Given the description of an element on the screen output the (x, y) to click on. 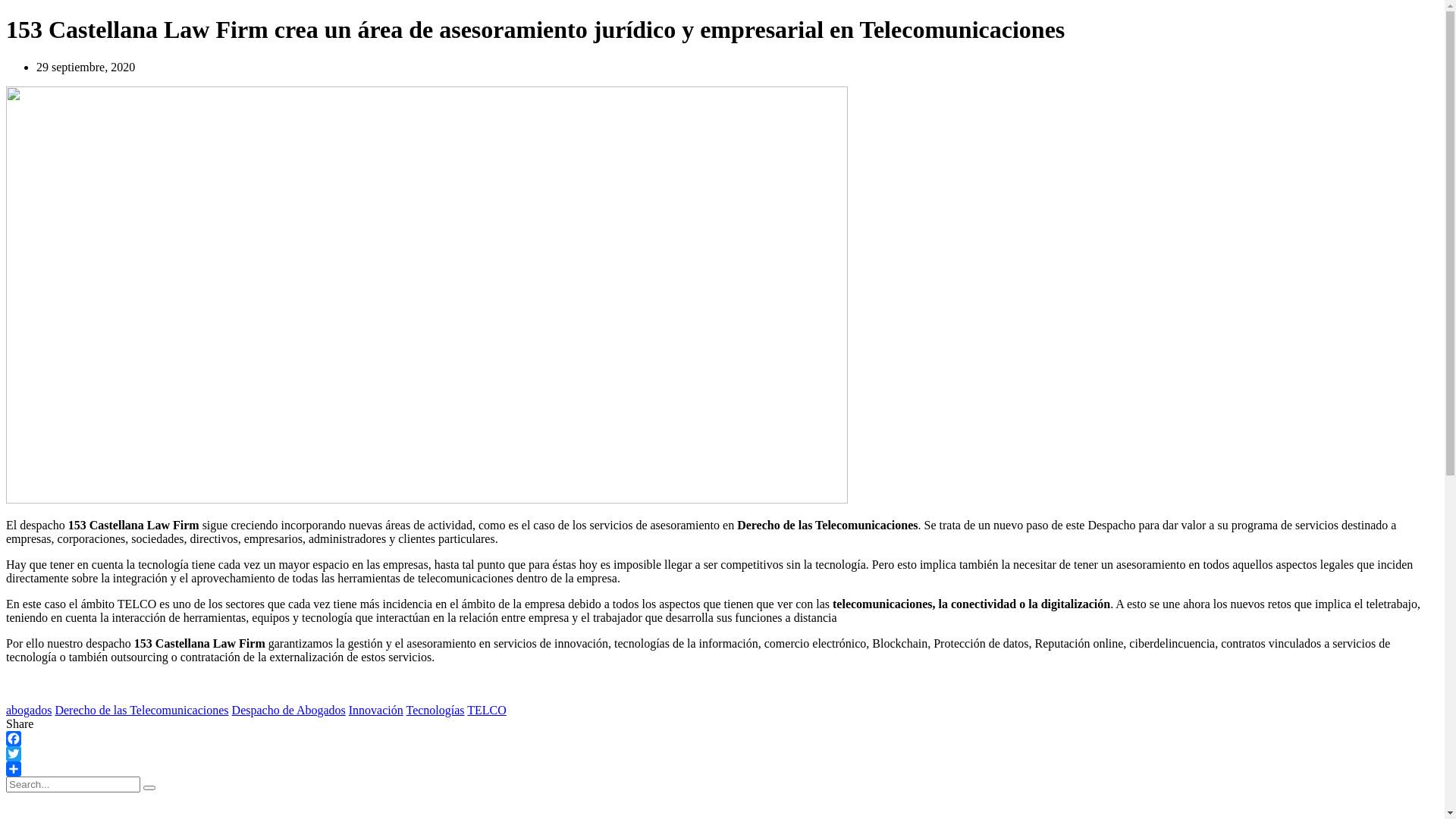
Despacho de Abogados Element type: text (288, 709)
abogados Element type: text (28, 709)
TELCO Element type: text (486, 709)
Twitter Element type: text (722, 753)
Derecho de las Telecomunicaciones Element type: text (141, 709)
Facebook Element type: text (722, 738)
Compartir Element type: text (722, 768)
